Given the description of an element on the screen output the (x, y) to click on. 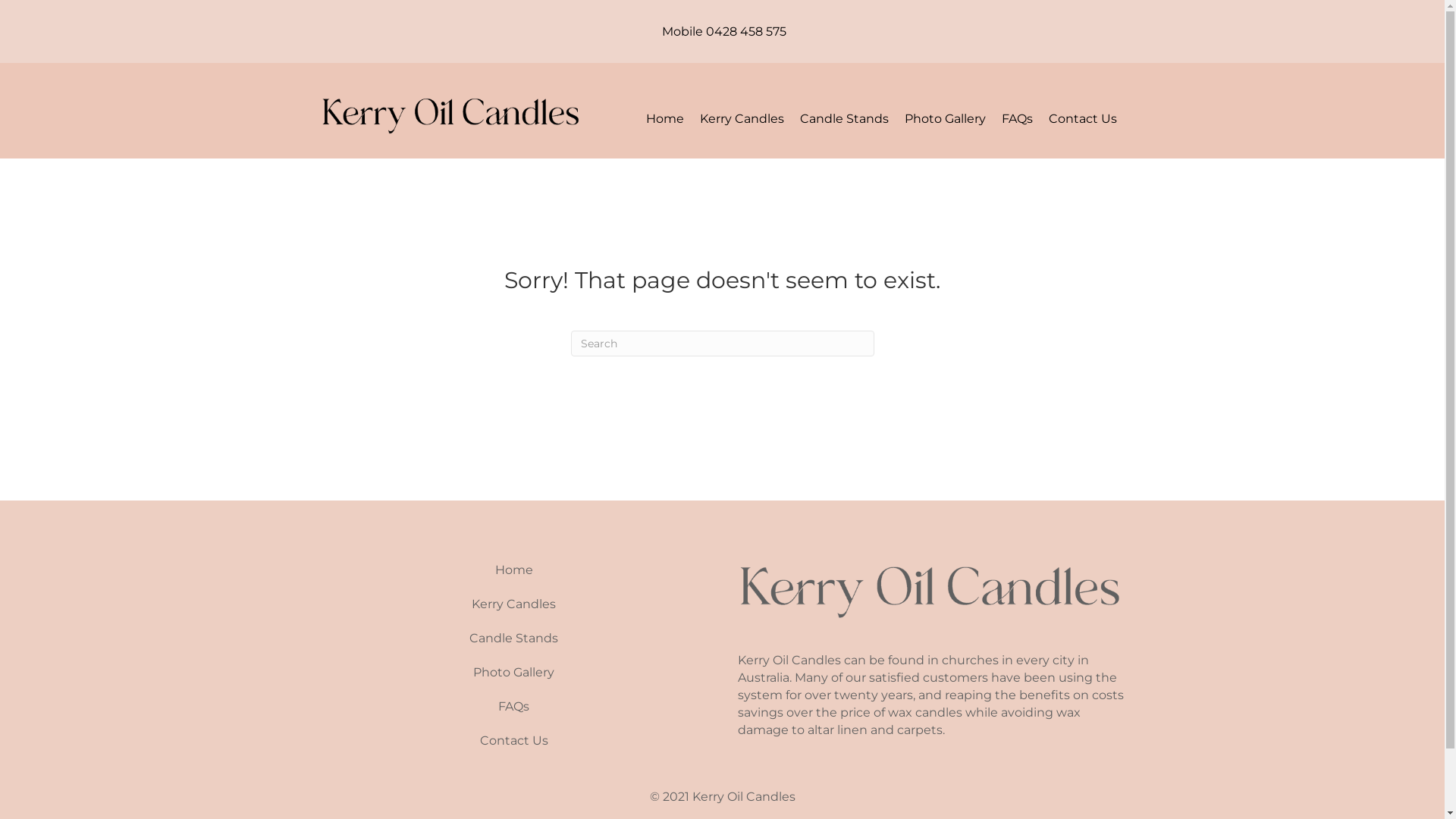
Contact Us Element type: text (1081, 118)
Candle Stands Element type: text (513, 638)
FAQs Element type: text (1016, 118)
Contact Us Element type: text (513, 740)
Kerry-Oil-Candles-and-stands-logo Element type: hover (450, 111)
Home Element type: text (664, 118)
Photo Gallery Element type: text (944, 118)
Home Element type: text (513, 569)
Photo Gallery Element type: text (513, 672)
Kerry Candles Element type: text (740, 118)
Type and press Enter to search. Element type: hover (721, 343)
Candle Stands Element type: text (843, 118)
Kerry-Oil-Candles-logo Element type: hover (930, 587)
FAQs Element type: text (513, 706)
Kerry Candles Element type: text (513, 604)
